Given the description of an element on the screen output the (x, y) to click on. 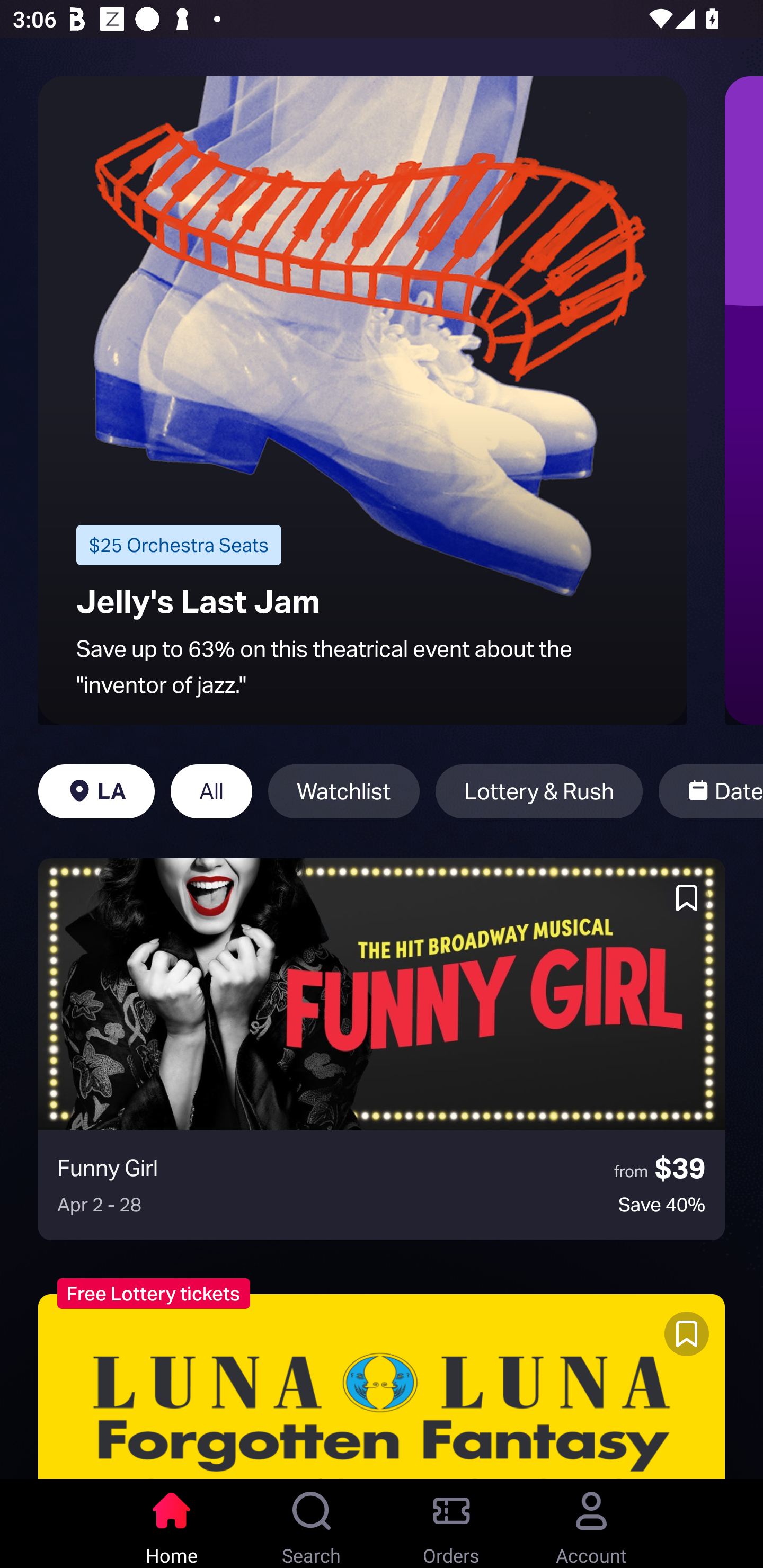
LA (96, 791)
All (211, 791)
Watchlist (343, 791)
Lottery & Rush (538, 791)
Funny Girl from $39 Apr 2 - 28 Save 40% (381, 1048)
Search (311, 1523)
Orders (451, 1523)
Account (591, 1523)
